Given the description of an element on the screen output the (x, y) to click on. 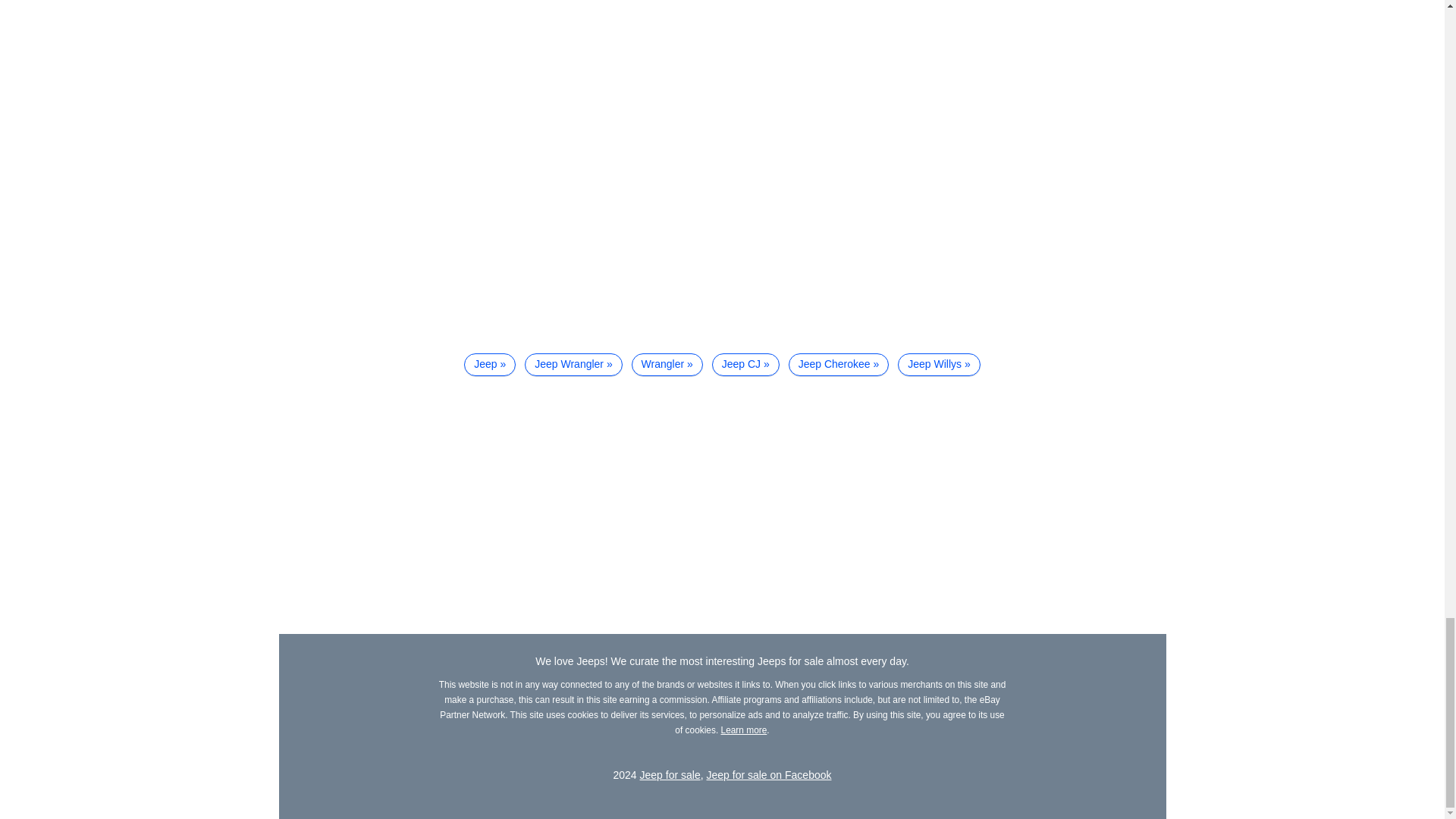
Jeep for sale on Facebook (768, 775)
Jeep CJ (744, 363)
Learn more (743, 729)
Jeep for sale (670, 775)
Jeep Willys (938, 363)
Wrangler (667, 363)
Jeep (489, 363)
Jeep Wrangler (572, 363)
Jeep Cherokee (839, 363)
